Given the description of an element on the screen output the (x, y) to click on. 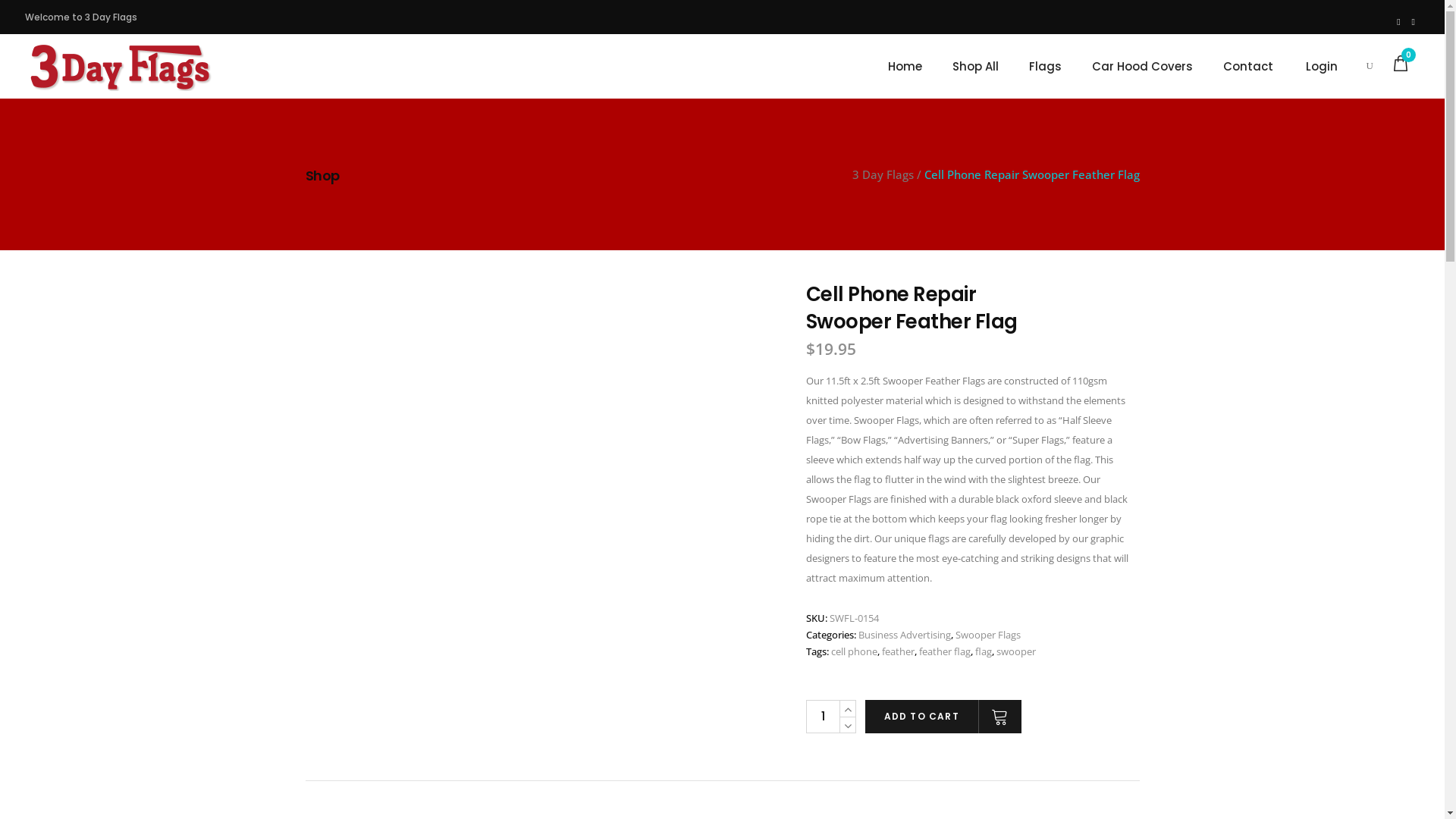
Login Element type: text (1321, 65)
U Element type: text (1101, 422)
Qty Element type: hover (821, 716)
Flags Element type: text (1044, 66)
3 Day Flags Element type: text (882, 174)
0 Element type: text (1400, 62)
ADD TO CART Element type: text (942, 716)
swooper Element type: text (1015, 651)
Swooper Flags Element type: text (987, 634)
cell phone Element type: text (854, 651)
Home Element type: text (904, 66)
Business Advertising Element type: text (904, 634)
flag Element type: text (983, 651)
feather Element type: text (897, 651)
Contact Element type: text (1248, 66)
Shop All Element type: text (975, 66)
Car Hood Covers Element type: text (1142, 66)
feather flag Element type: text (944, 651)
